Given the description of an element on the screen output the (x, y) to click on. 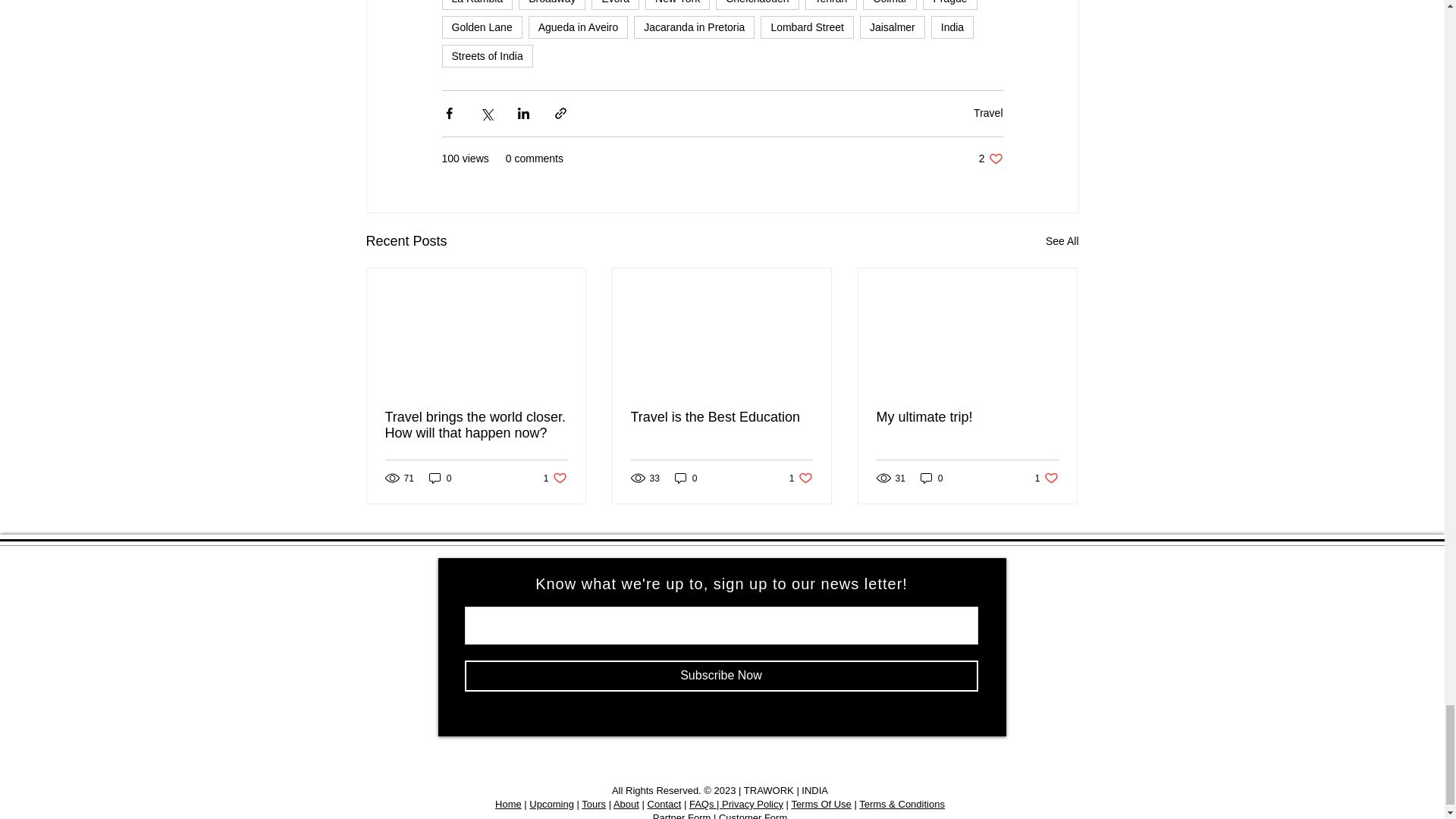
Jacaranda in Pretoria (693, 26)
Jaisalmer (892, 26)
La Rambla (476, 4)
Colmar (890, 4)
Tehran (831, 4)
Golden Lane (481, 26)
Prague (949, 4)
Lombard Street (806, 26)
New York (677, 4)
Agueda in Aveiro (578, 26)
Broadway (551, 4)
Chefchaouen (756, 4)
